Given the description of an element on the screen output the (x, y) to click on. 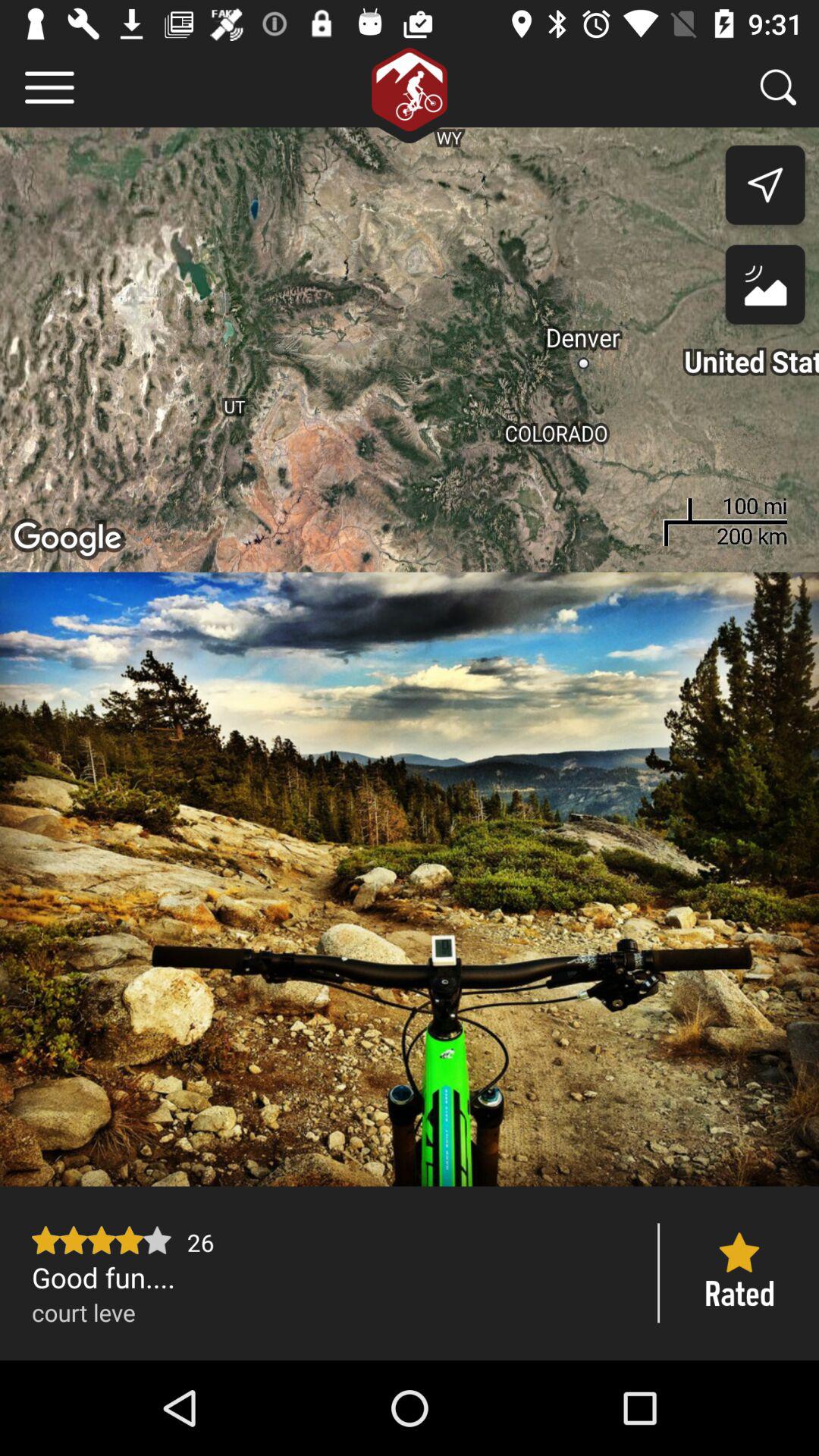
change location (765, 288)
